Given the description of an element on the screen output the (x, y) to click on. 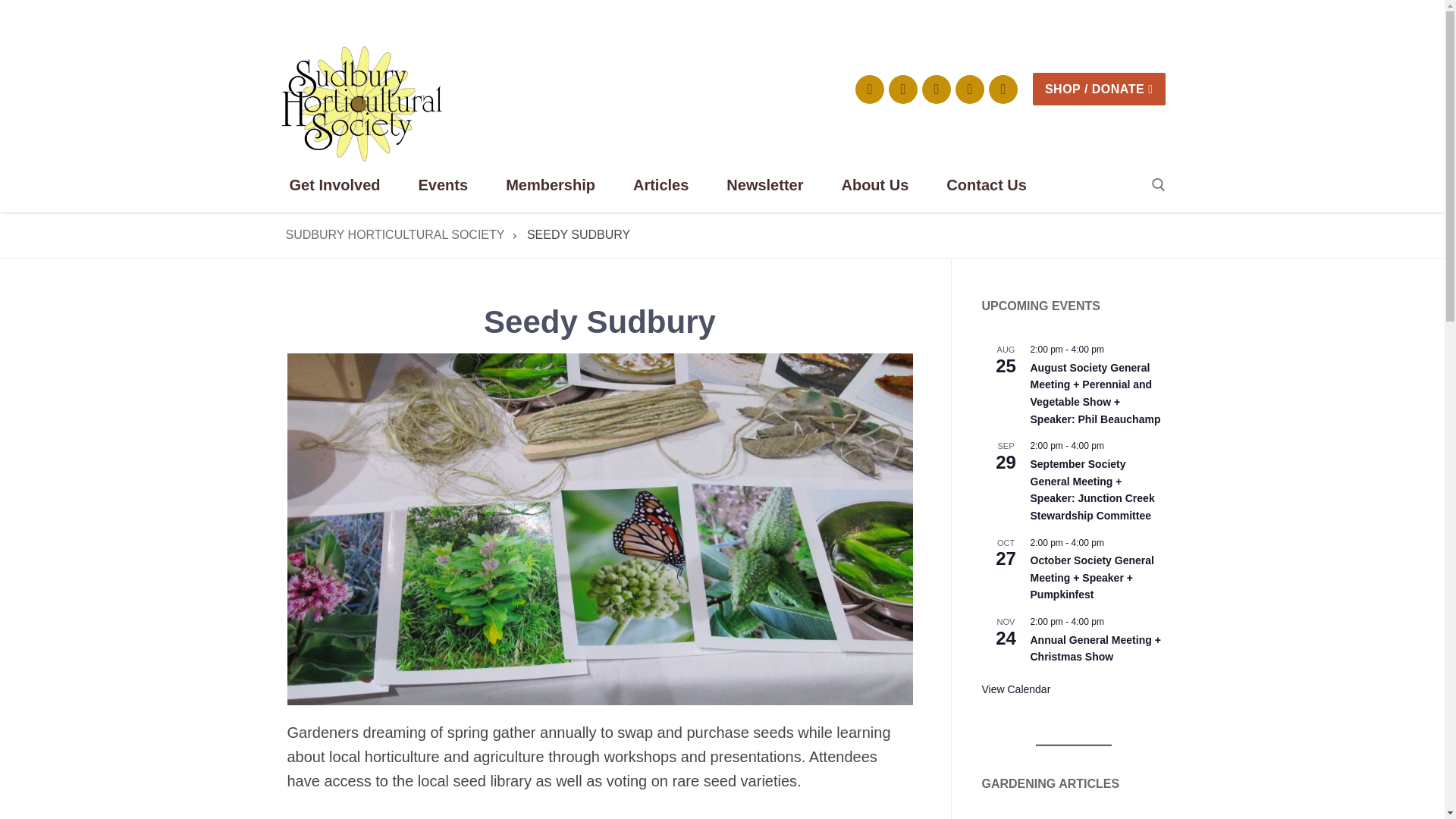
Facebook (868, 88)
Membership (559, 185)
Articles (669, 185)
About Us (883, 185)
Events (452, 185)
SUDBURY HORTICULTURAL SOCIETY (394, 234)
Contact Us (995, 185)
Get Involved (343, 185)
Cart (1002, 88)
Instagram (902, 88)
YouTube (935, 88)
Newsletter (773, 185)
Photo Gallery (969, 88)
